Given the description of an element on the screen output the (x, y) to click on. 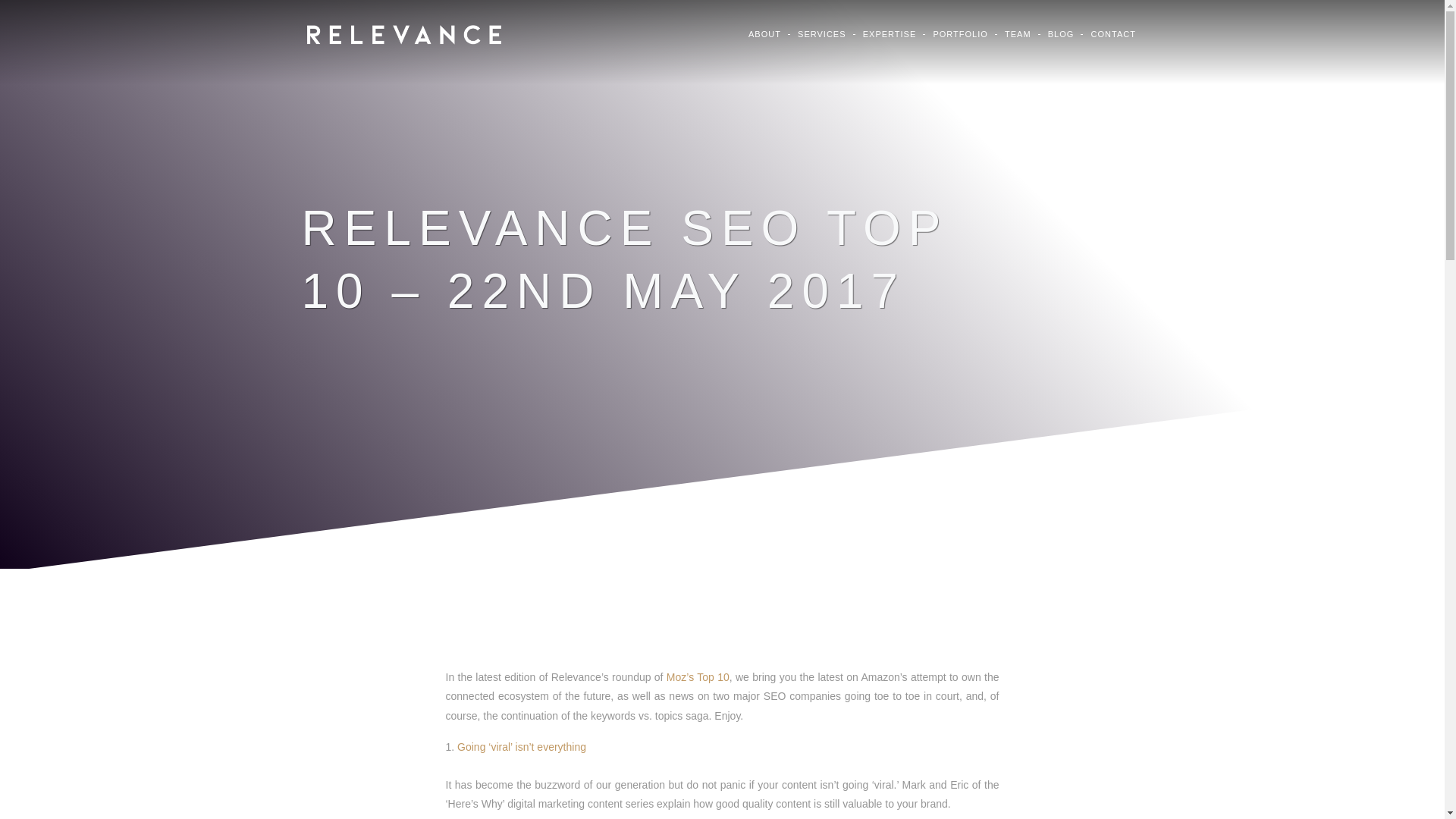
TEAM (1019, 34)
PORTFOLIO (961, 34)
EXPERTISE (891, 34)
Contact (1112, 34)
SERVICES (823, 34)
About (765, 34)
BLOG (1062, 34)
Expertise (891, 34)
ABOUT (765, 34)
Blog (1062, 34)
Team (1019, 34)
Portfolio (961, 34)
CONTACT (1112, 34)
Services (823, 34)
